Given the description of an element on the screen output the (x, y) to click on. 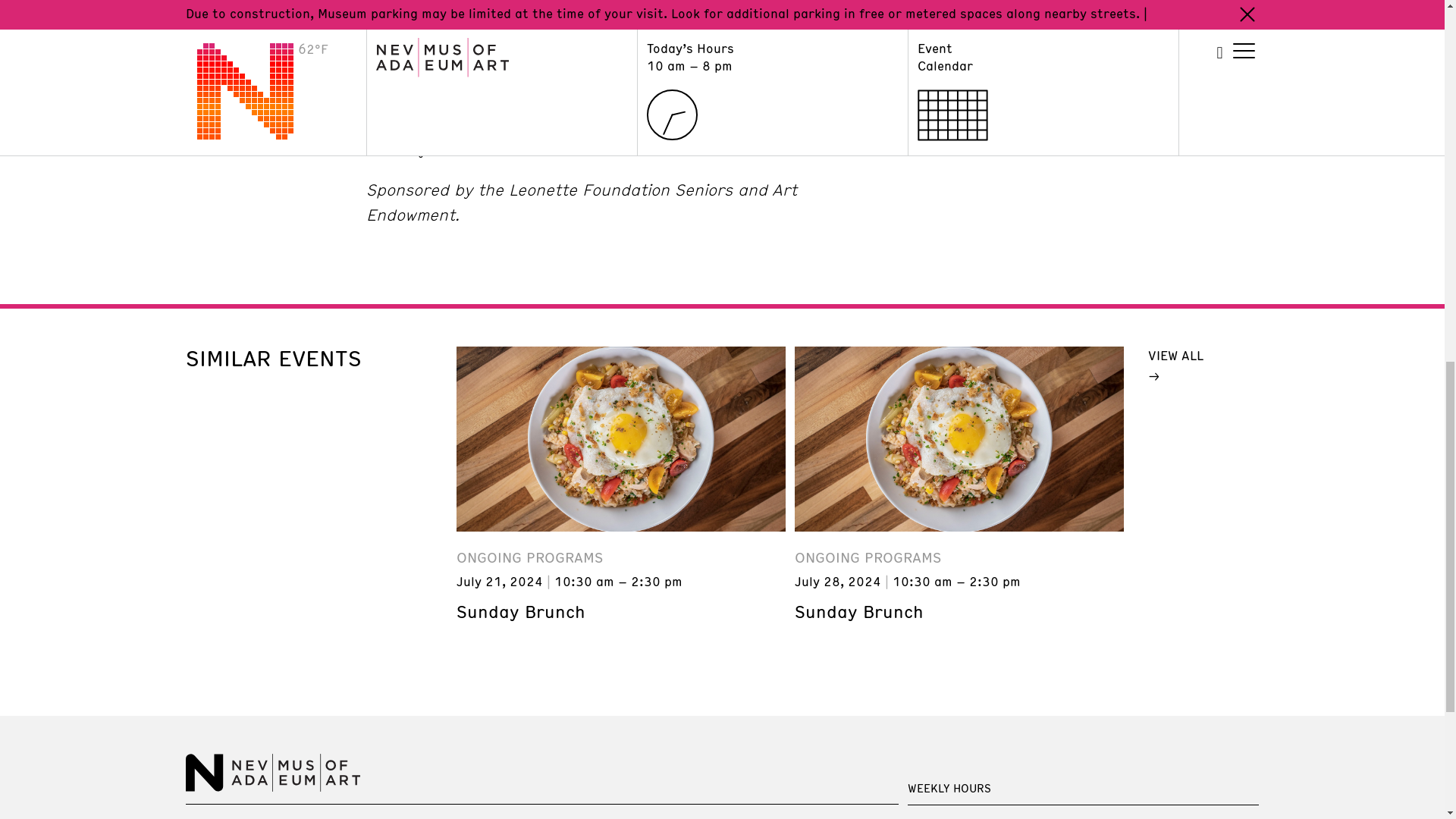
VIEW ALL (1195, 365)
